Given the description of an element on the screen output the (x, y) to click on. 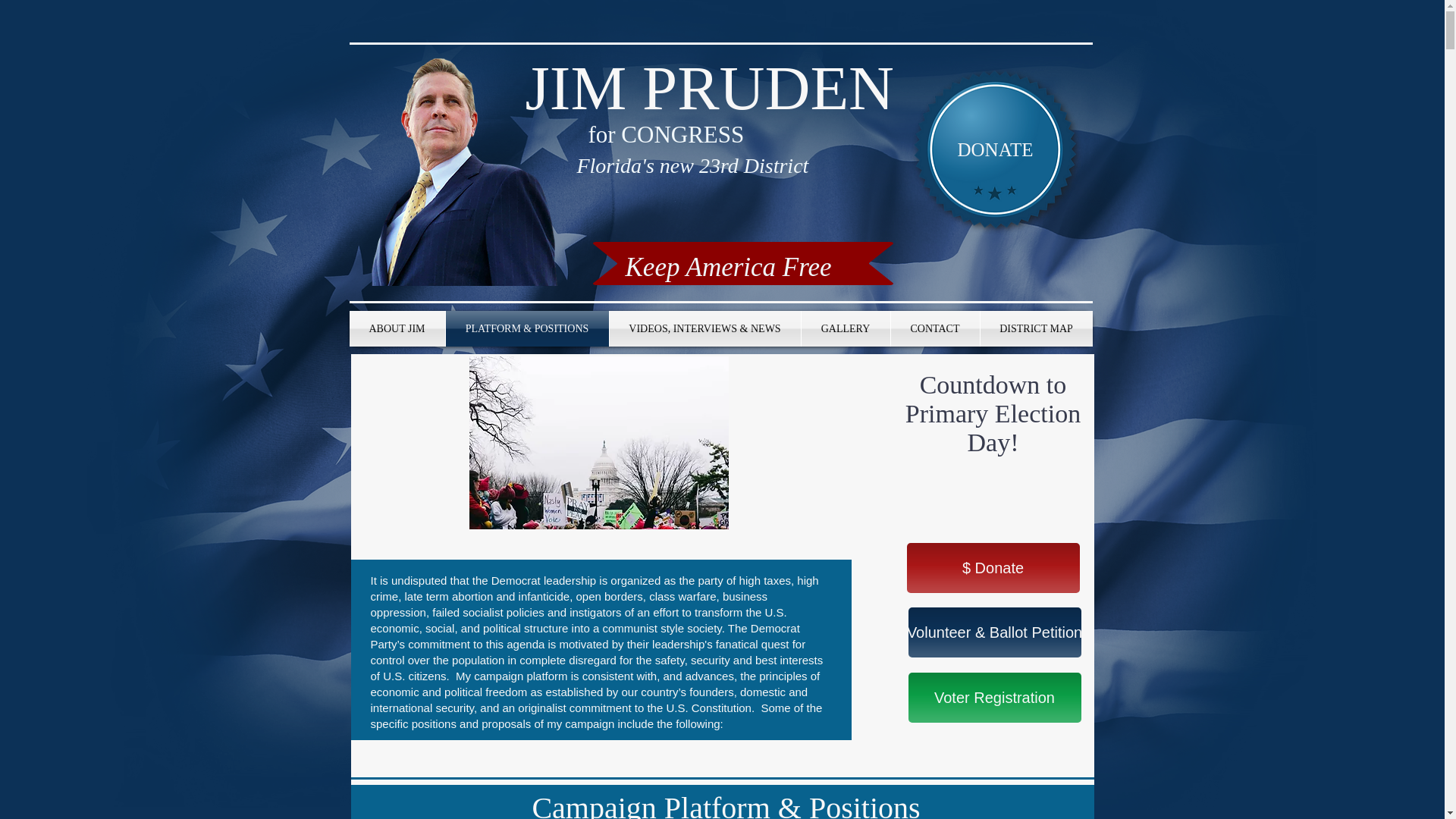
CONTACT (933, 328)
GALLERY (844, 328)
Keep America Free (727, 266)
Florida's (614, 165)
DONATE (995, 149)
DISTRICT MAP (1035, 328)
ABOUT JIM (396, 328)
JIM PRUDEN (708, 87)
 new 23rd District (731, 165)
